Given the description of an element on the screen output the (x, y) to click on. 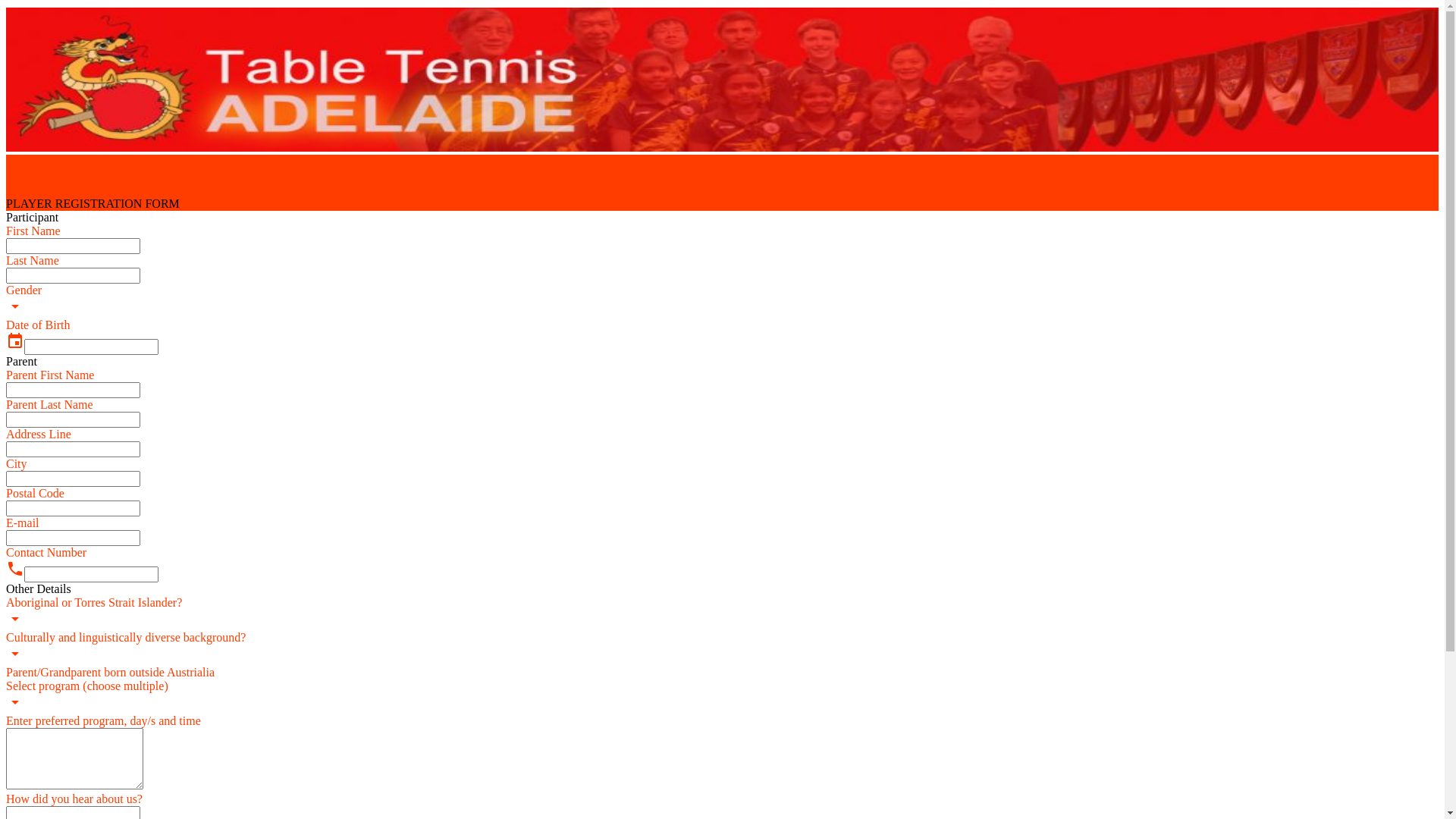
Home Element type: text (722, 161)
